Given the description of an element on the screen output the (x, y) to click on. 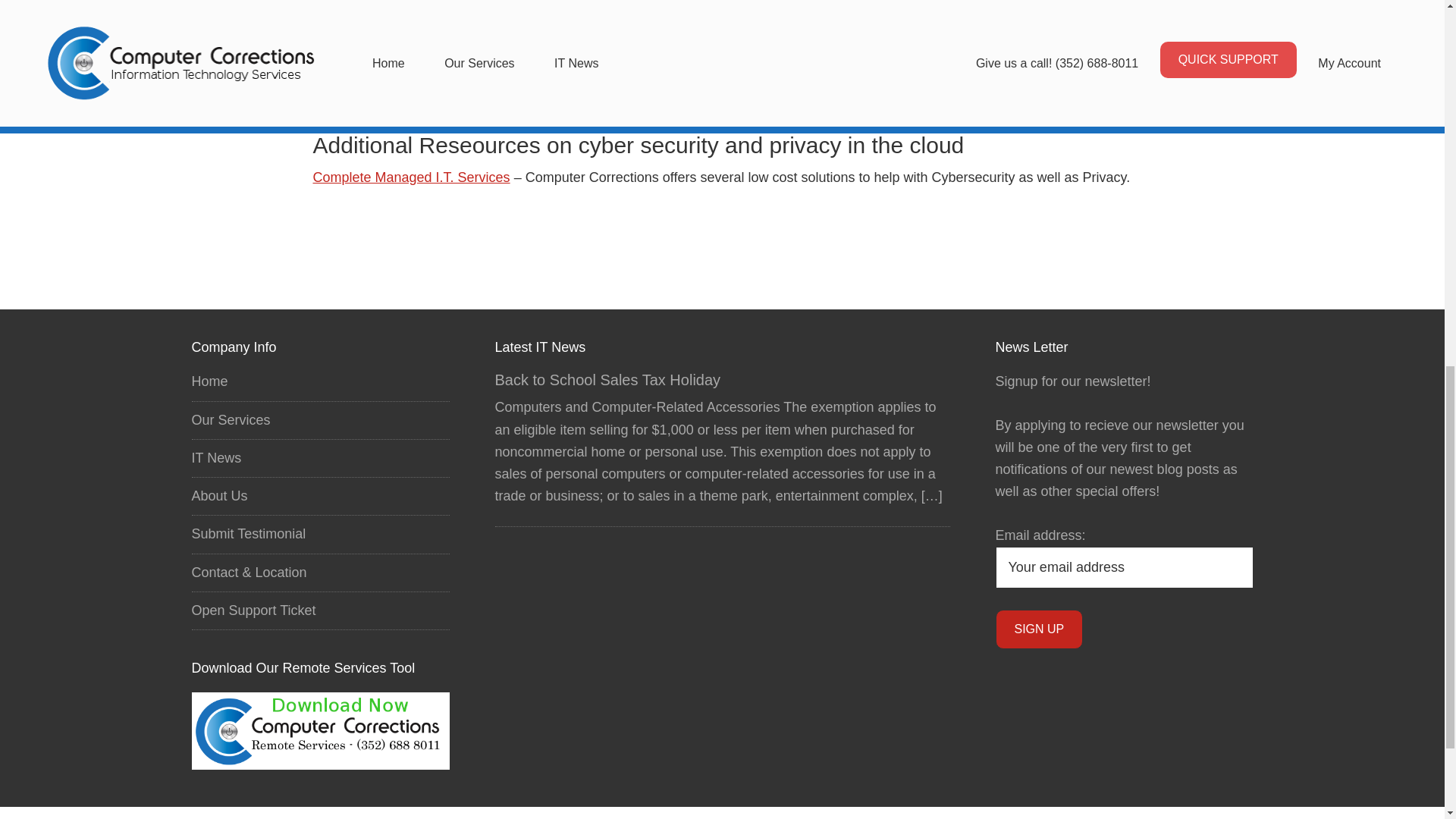
Home (208, 381)
Complete Managed I.T. Services (411, 177)
IT News (215, 458)
Submit Testimonial (247, 533)
About Us (218, 495)
Sign up (1038, 629)
Our Services (229, 419)
Back to School Sales Tax Holiday (607, 379)
Open Support Ticket (252, 610)
Sign up (1038, 629)
